Given the description of an element on the screen output the (x, y) to click on. 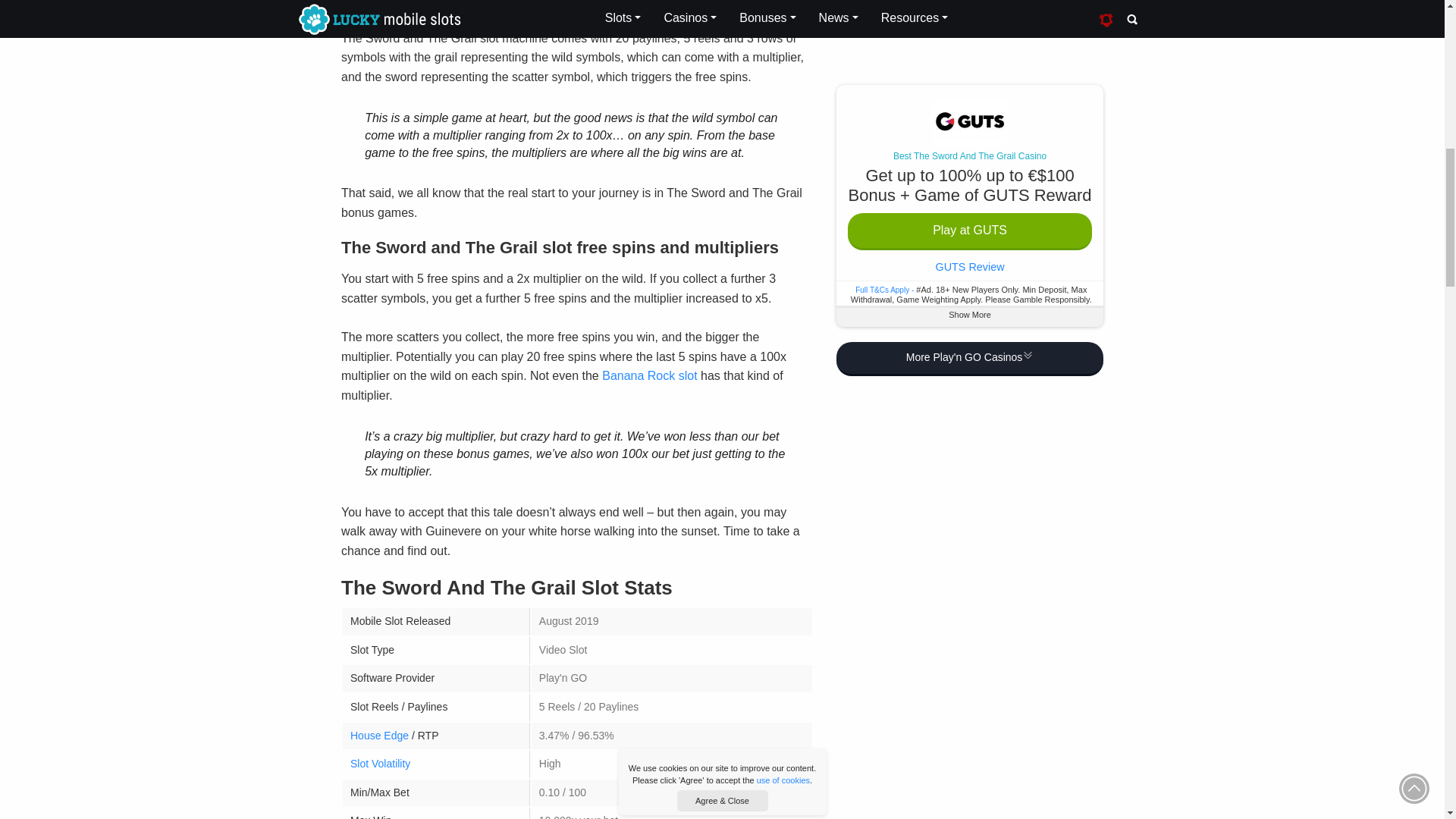
Learn about slot volatility and variance (380, 763)
Banana Rock Mobile Slot Game (649, 375)
Learn about slots house edge (379, 735)
